Given the description of an element on the screen output the (x, y) to click on. 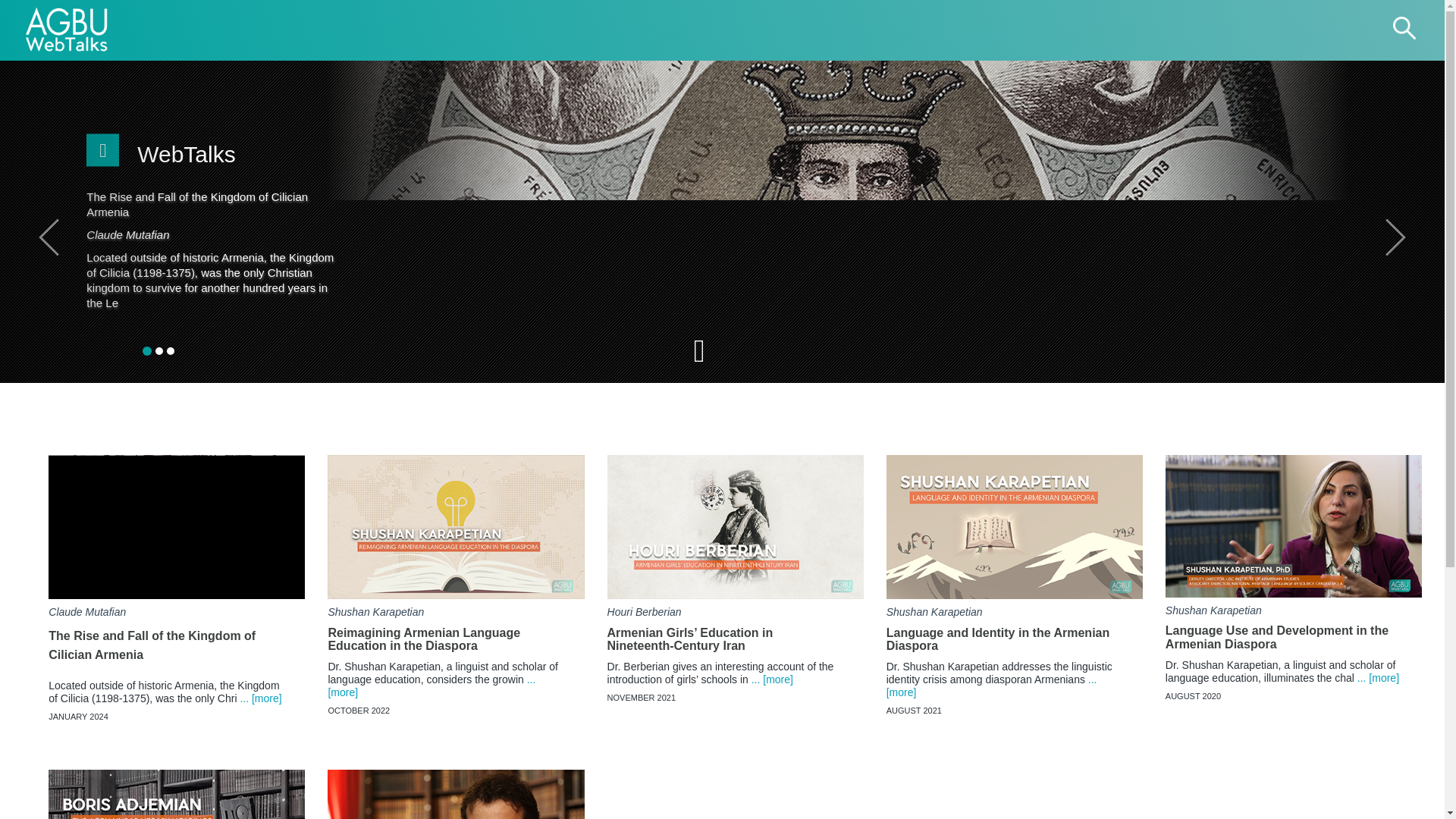
Houri Berberian (644, 612)
Search (1404, 28)
Search (1404, 28)
Reimagining Armenian Language Education in the Diaspora (455, 625)
Claude Mutafian (86, 612)
Shushan Karapetian (934, 612)
Language and Identity in the Armenian Diaspora (1014, 625)
The Rise and Fall of the Kingdom of Cilician Armenia (176, 634)
Shushan Karapetian (375, 612)
Search (1404, 28)
